Given the description of an element on the screen output the (x, y) to click on. 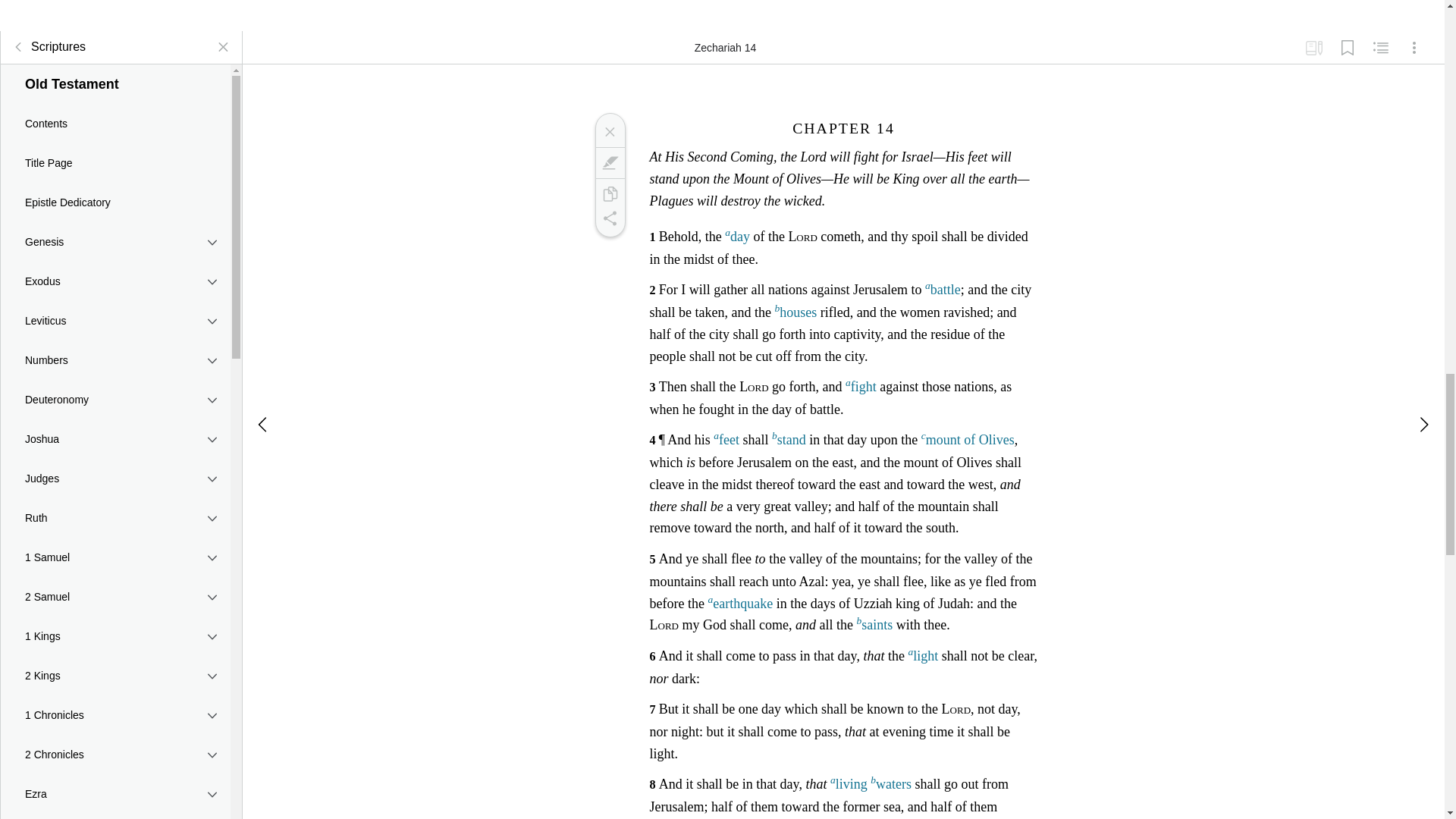
Numbers (115, 360)
1 Samuel (115, 557)
Study Sets (1313, 47)
Share (608, 218)
Ezra (115, 793)
Mark (608, 162)
Close (608, 131)
Title Page (115, 162)
2 Samuel (115, 596)
Judges (115, 477)
Deuteronomy (115, 399)
Genesis (115, 241)
Scriptures (46, 46)
Joshua (115, 438)
1 Kings (115, 636)
